Given the description of an element on the screen output the (x, y) to click on. 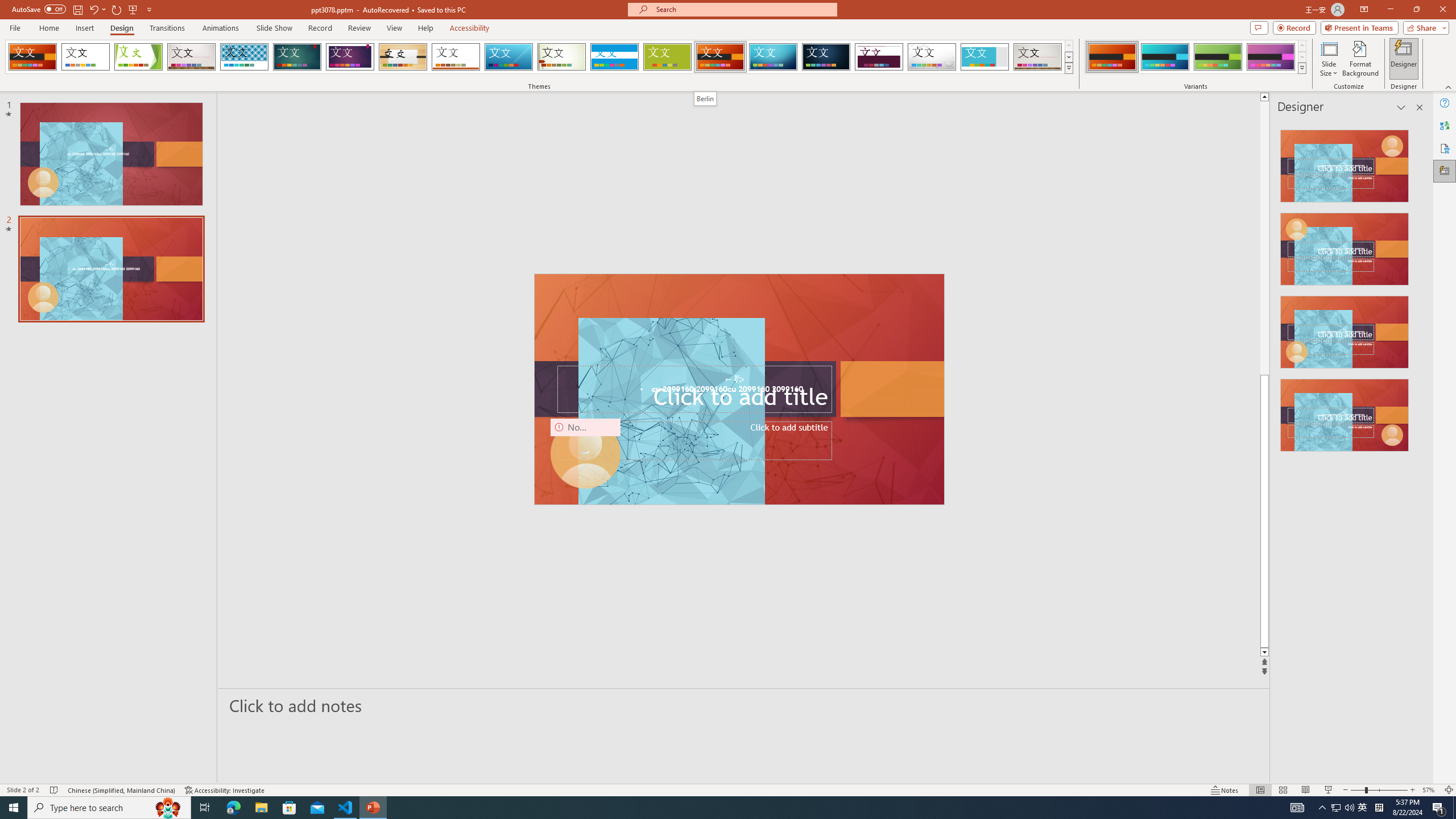
Recommended Design: Design Idea (1344, 162)
An abstract genetic concept (738, 389)
Organic (403, 56)
Subtitle TextBox (694, 440)
Page up (1427, 238)
Facet (138, 56)
